Given the description of an element on the screen output the (x, y) to click on. 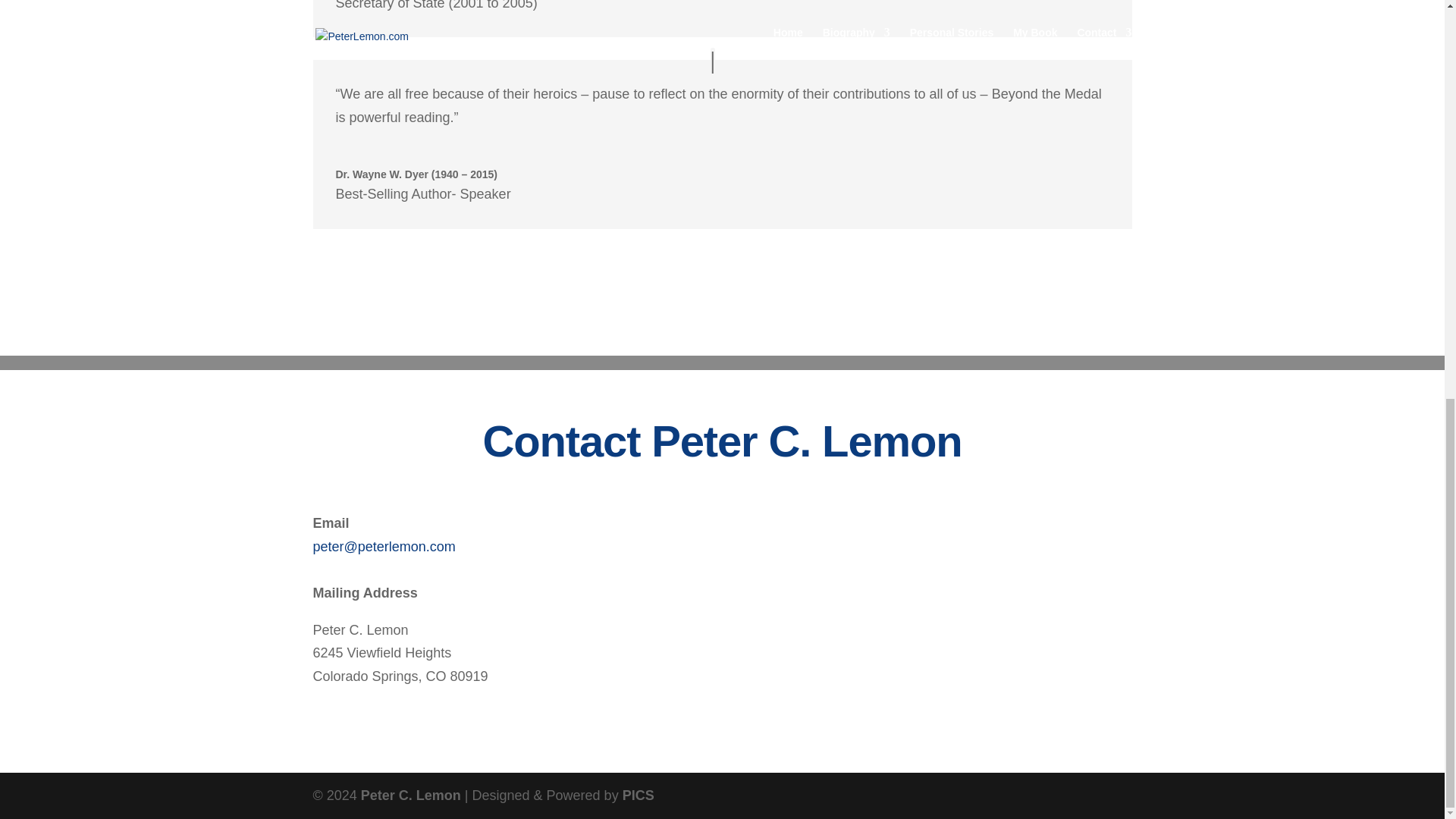
Peter C. Lemon (411, 795)
PICS (638, 795)
Premium WordPress Themes (411, 795)
